Given the description of an element on the screen output the (x, y) to click on. 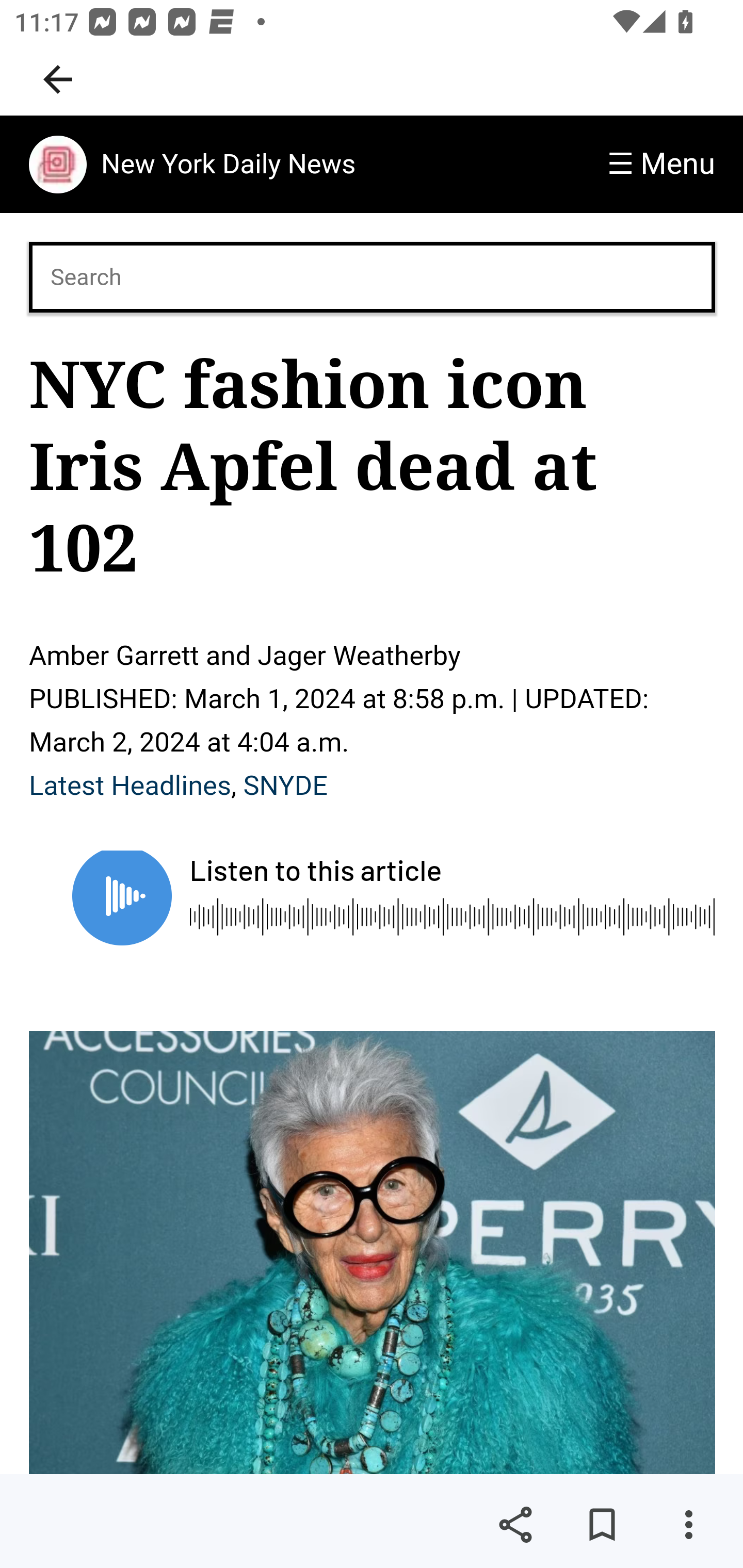
Navigate up (57, 79)
☰ Menu (661, 163)
Latest Headlines (130, 785)
SNYDE (285, 785)
Play (122, 896)
Share (514, 1524)
Save for later (601, 1524)
More options (688, 1524)
